Given the description of an element on the screen output the (x, y) to click on. 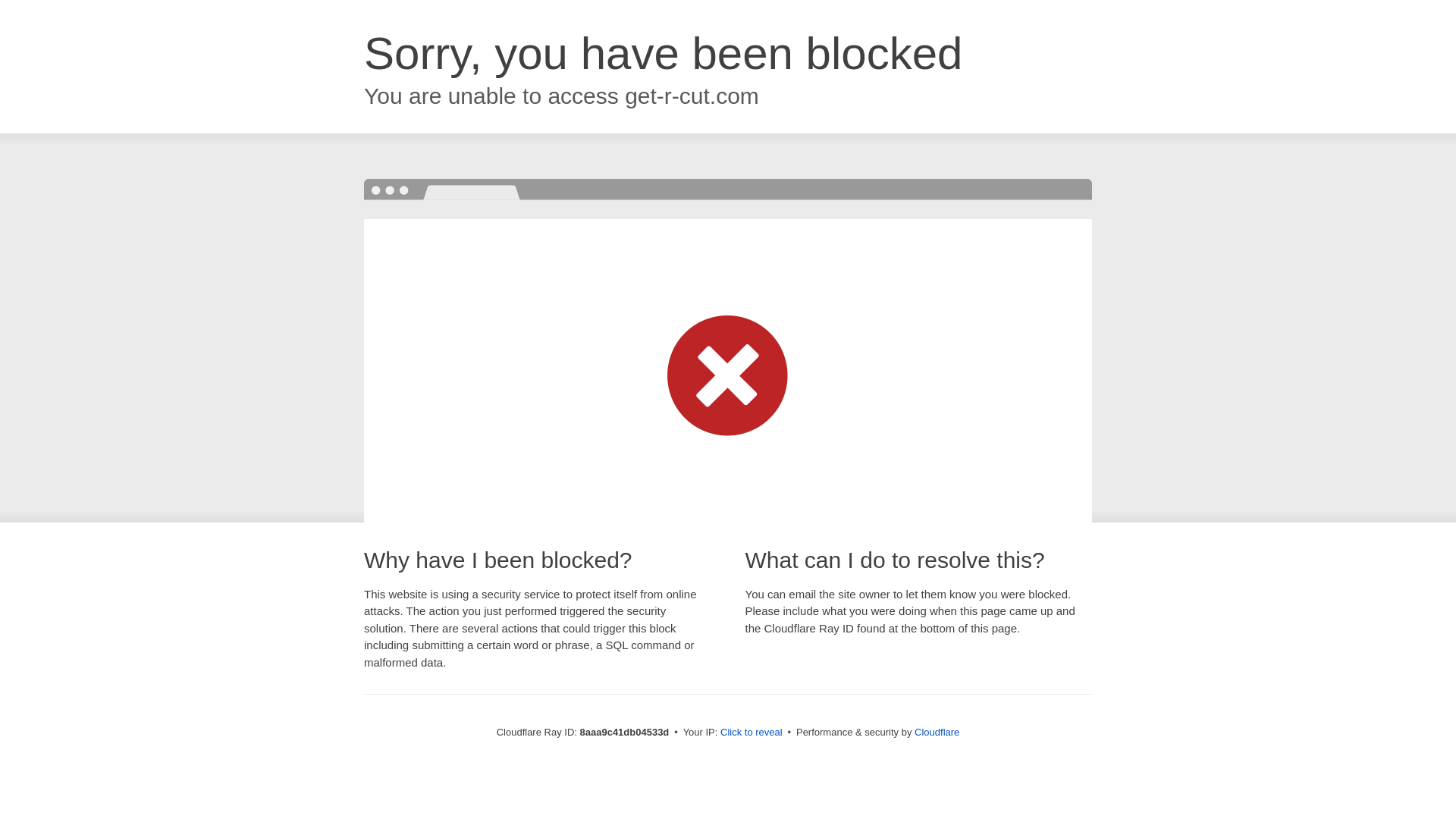
Cloudflare (936, 731)
Click to reveal (751, 732)
